Given the description of an element on the screen output the (x, y) to click on. 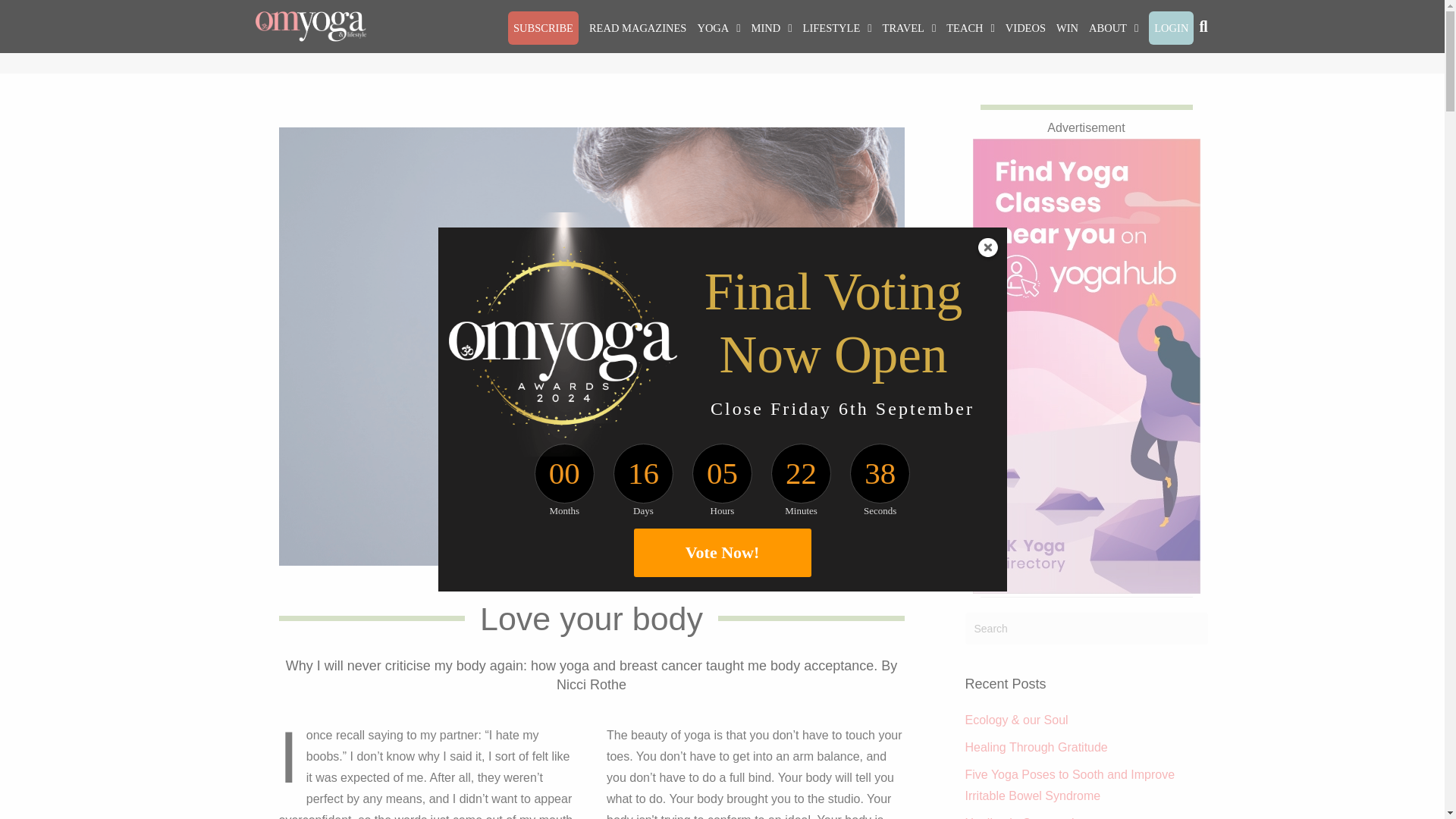
READ MAGAZINES (637, 28)
Type and press Enter to search. (1085, 628)
VIDEOS (1025, 28)
LIFESTYLE (837, 28)
ABOUT (1112, 28)
YOGA (718, 28)
MIND (771, 28)
TEACH (970, 28)
LOGIN (1170, 28)
